Given the description of an element on the screen output the (x, y) to click on. 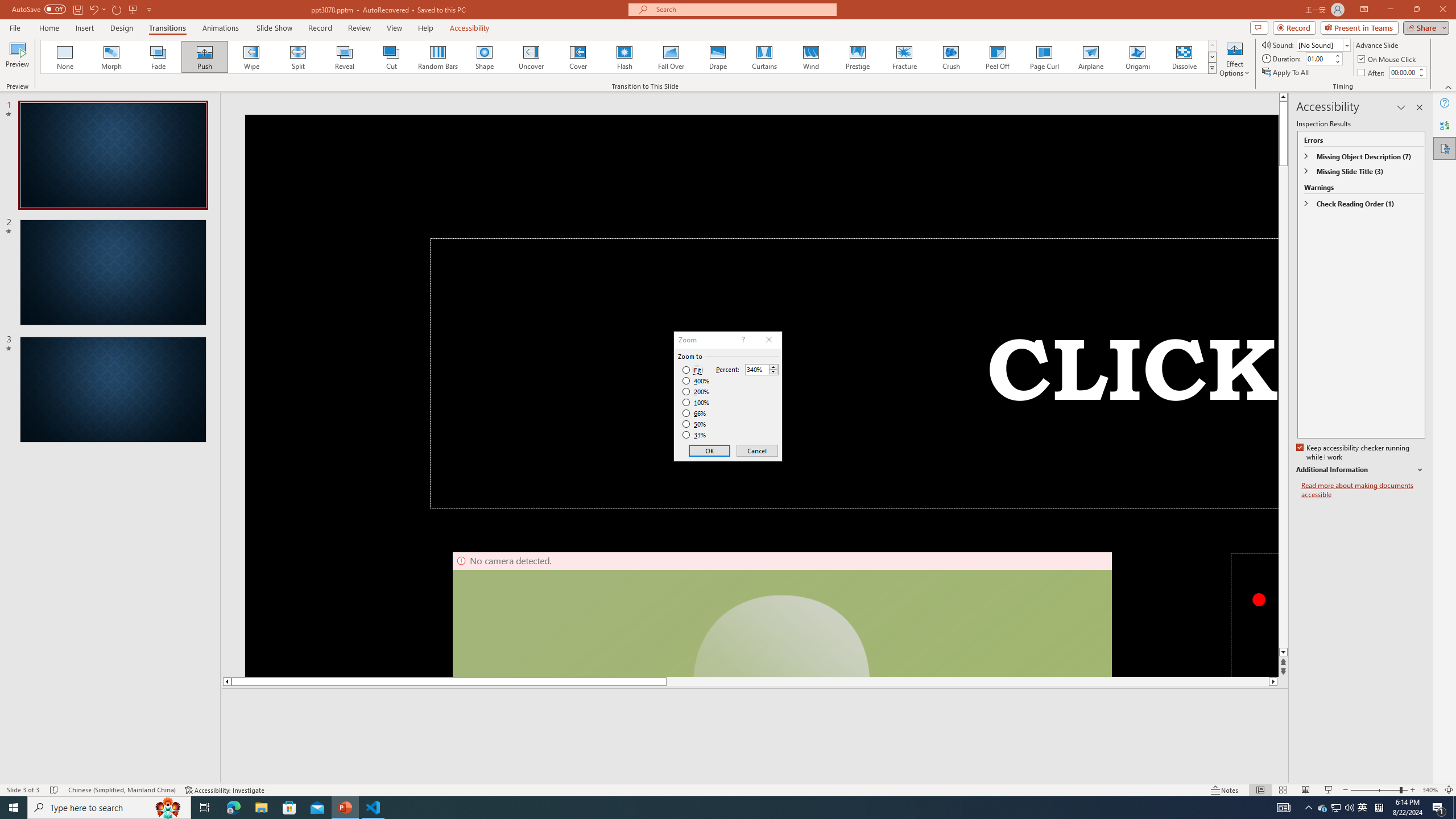
66% (694, 412)
OK (709, 450)
Percent (761, 369)
Context help (742, 339)
Origami (1136, 56)
Fade (158, 56)
Effect Options (1234, 58)
